Given the description of an element on the screen output the (x, y) to click on. 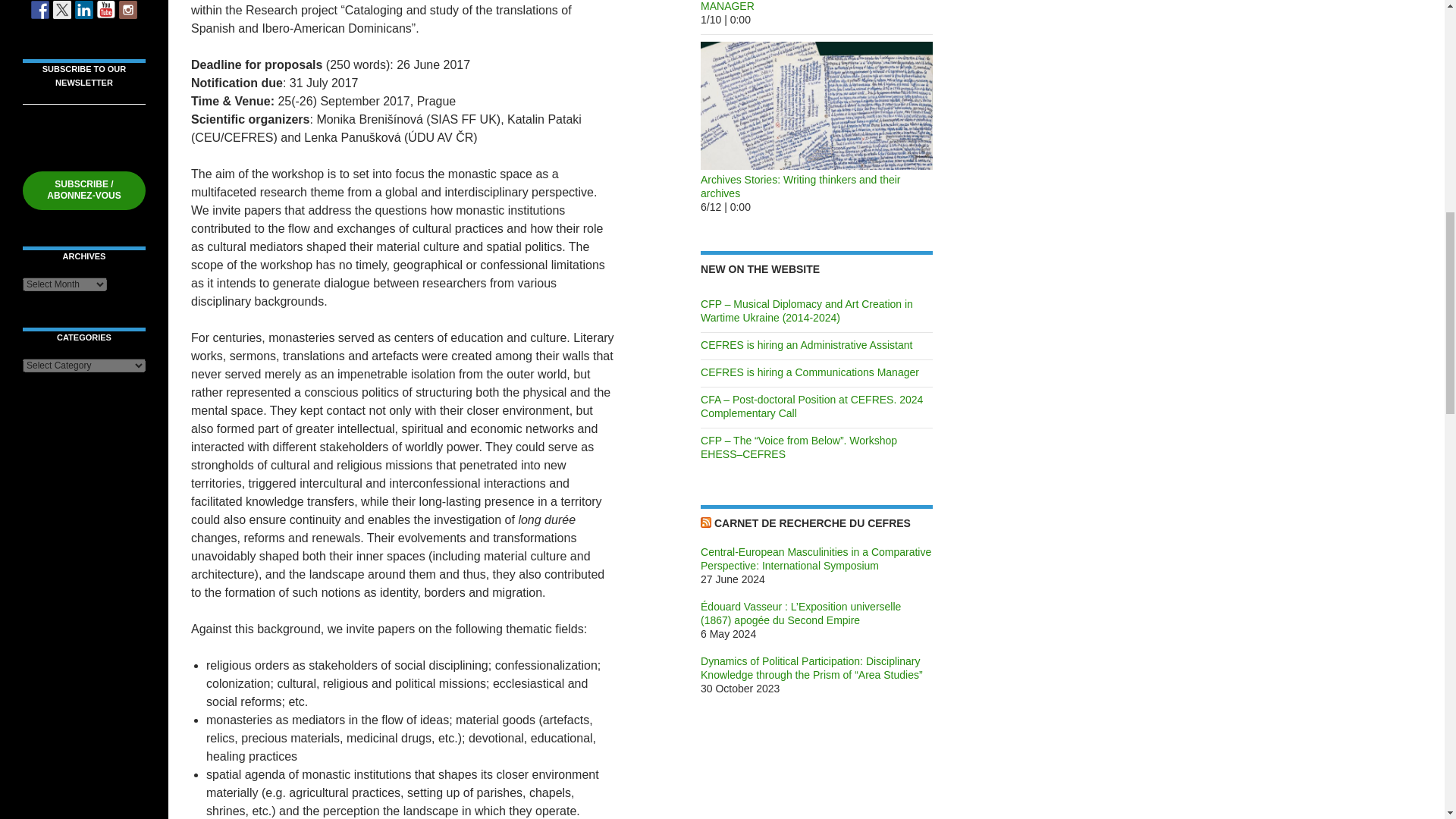
Find us on Linkedin (84, 9)
Check out our instagram feed (127, 9)
Find us on YouTube (106, 9)
Follow us on Facebook (39, 9)
Follow us on Twitter (61, 9)
